Given the description of an element on the screen output the (x, y) to click on. 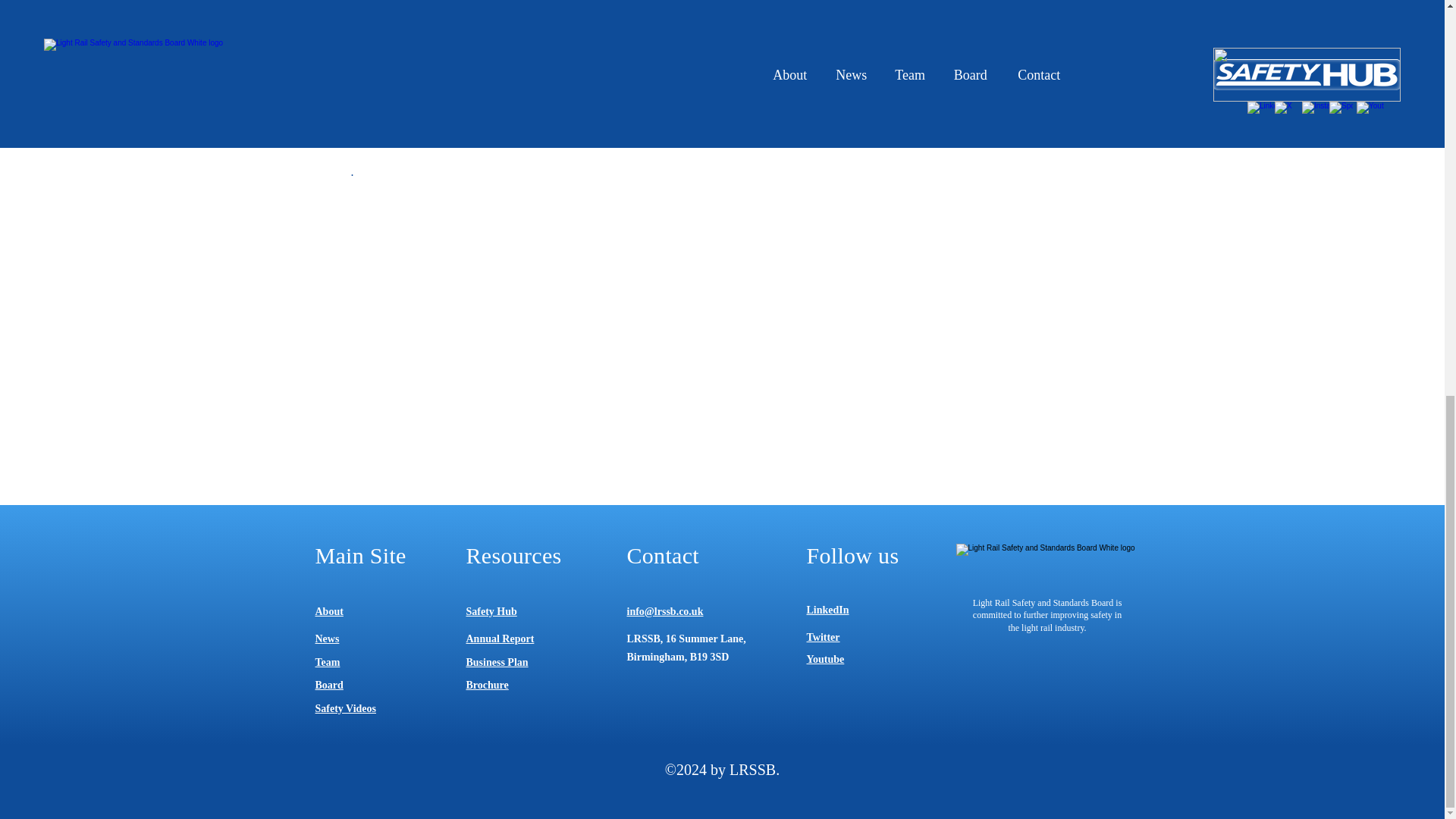
News (327, 638)
About (329, 611)
Team (327, 662)
Board (329, 685)
Safety Videos (346, 708)
LinkedIn (827, 609)
Youtube (825, 659)
Brochure (486, 685)
Business Plan (496, 662)
Twitter (823, 636)
